Given the description of an element on the screen output the (x, y) to click on. 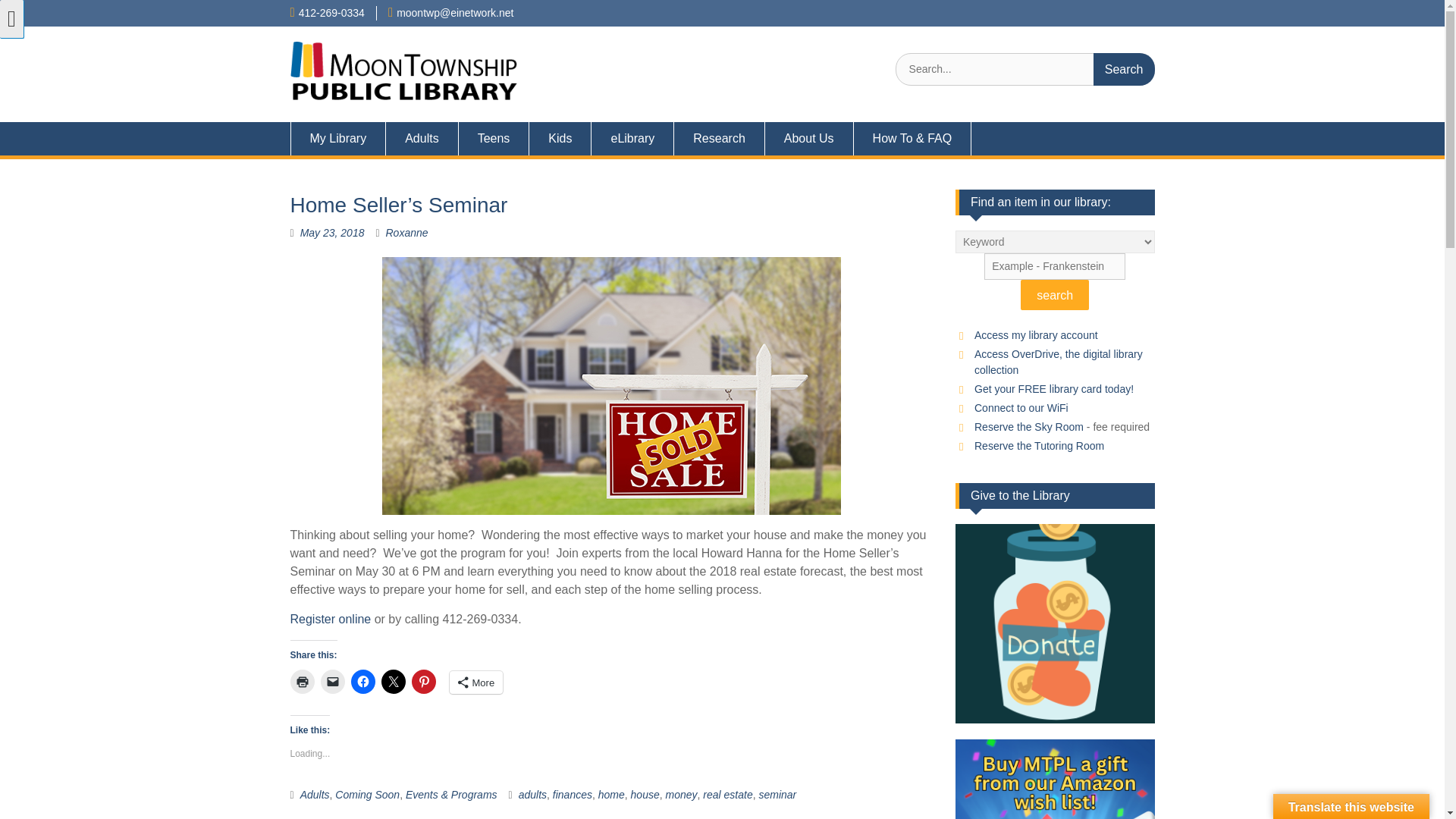
Coming Soon (366, 794)
412-269-0334 (331, 12)
Click to share on X (392, 681)
money (681, 794)
real estate (727, 794)
More (475, 681)
Search (1123, 69)
finances (572, 794)
Teens (493, 138)
home (611, 794)
Search (1123, 69)
Search for: (1024, 69)
Click to print (301, 681)
eLibrary (632, 138)
Search (1123, 69)
